Given the description of an element on the screen output the (x, y) to click on. 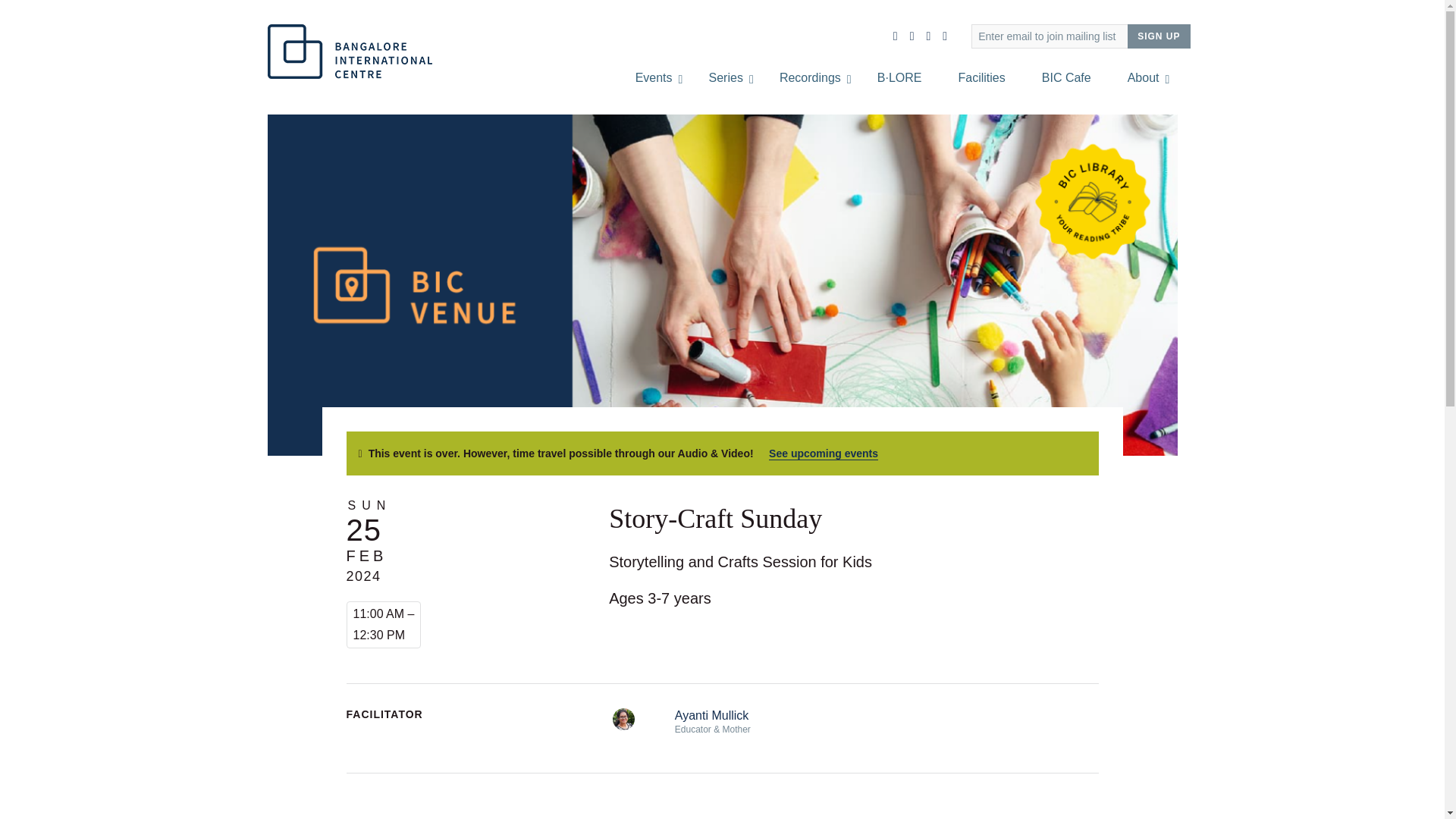
Events (653, 78)
See upcoming events (822, 453)
Sign Up (1157, 36)
Facilities (981, 78)
About (1143, 78)
Recordings (810, 78)
Bangalore International Centre (348, 51)
Series (725, 78)
BIC Cafe (1066, 78)
Ayanti Mullick (712, 715)
See upcoming events (822, 453)
BANGALORE INTERNATIONAL CENTRE (348, 51)
See Bio (623, 717)
Sign Up (1157, 36)
Ayanti Mullick (712, 715)
